Given the description of an element on the screen output the (x, y) to click on. 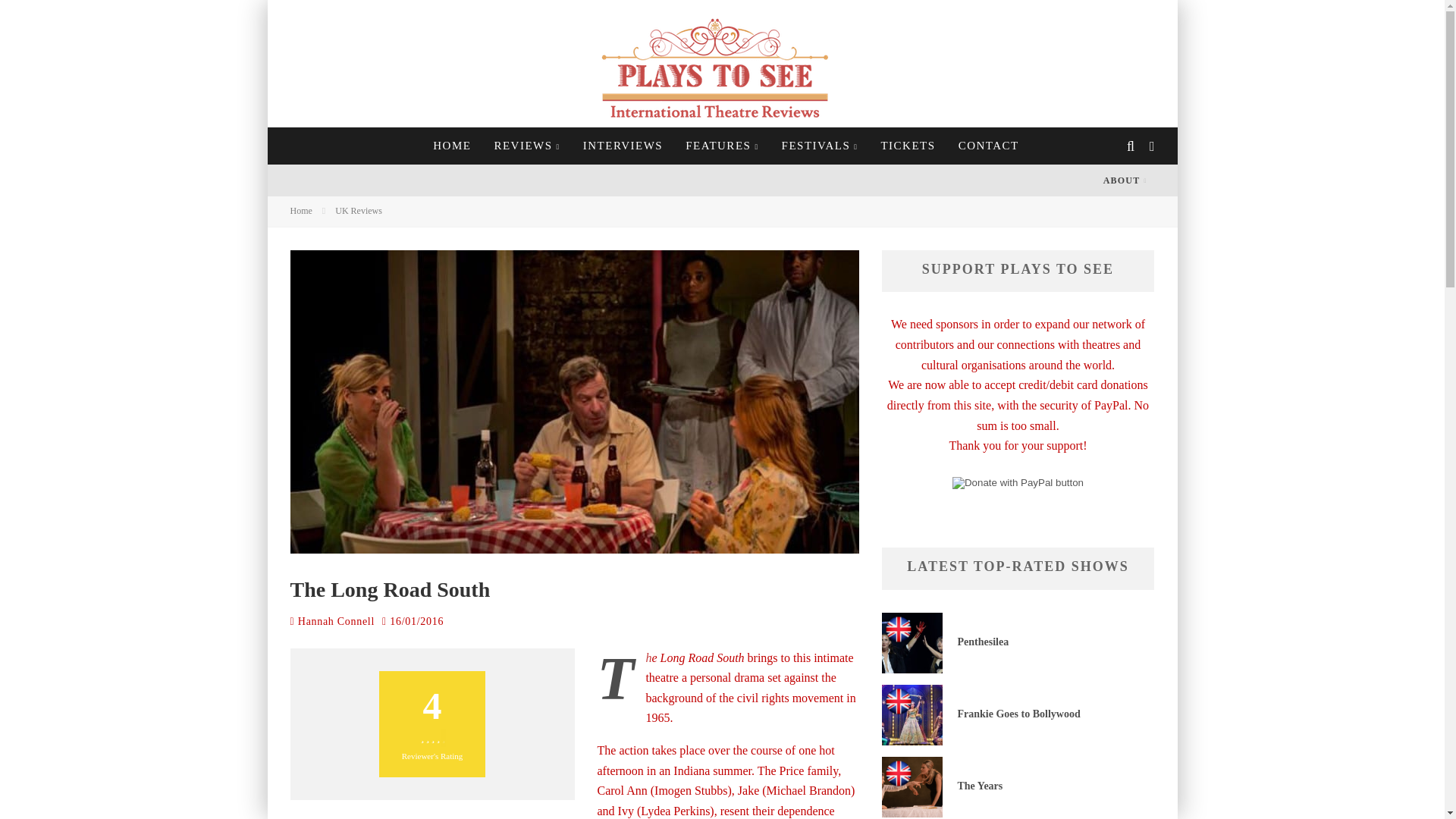
PayPal - The safer, easier way to pay online! (1017, 481)
REVIEWS (525, 145)
HOME (451, 145)
